Given the description of an element on the screen output the (x, y) to click on. 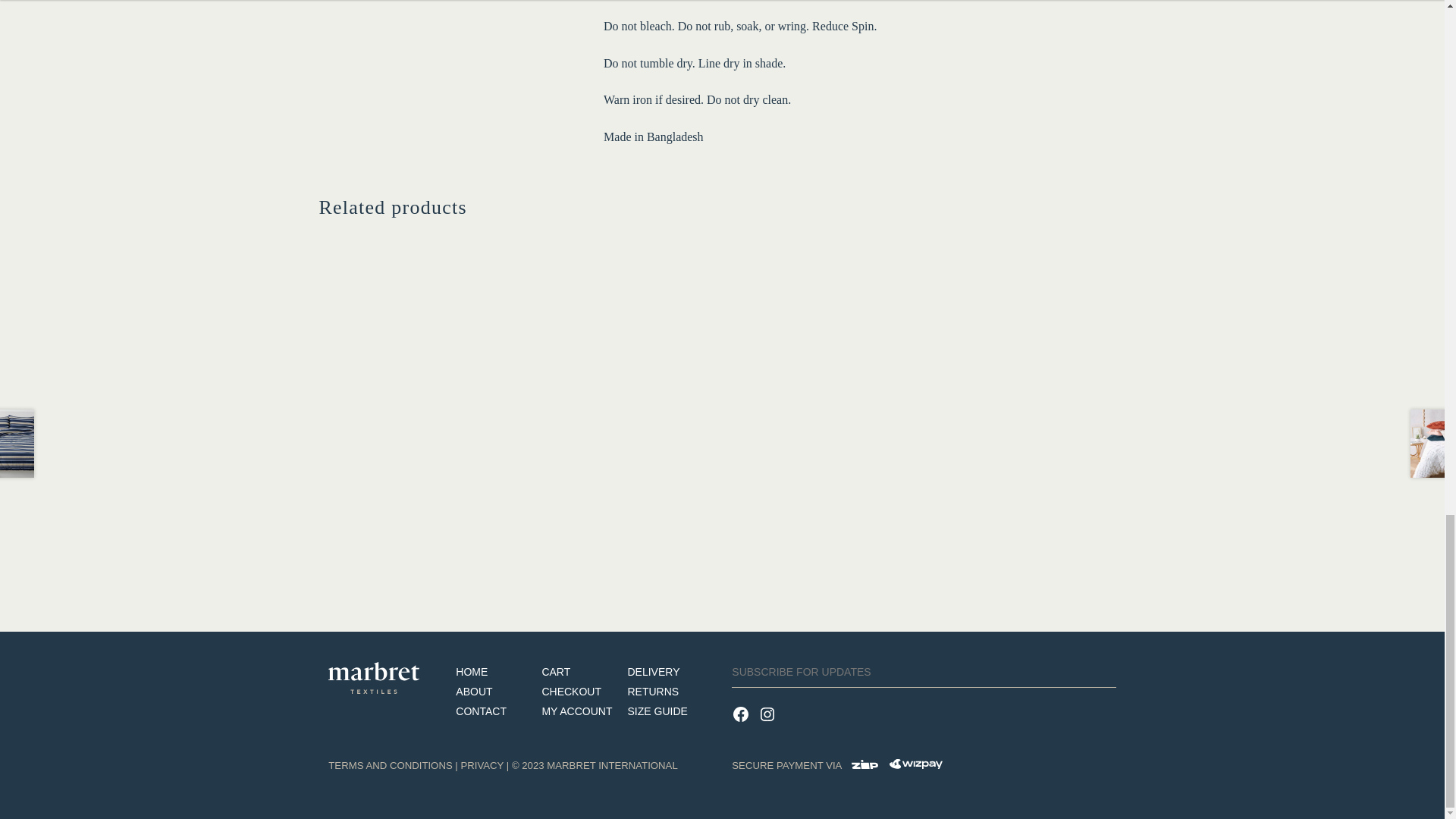
First name (923, 675)
Follow us on Instagram (769, 723)
Follow us on Facebook (744, 723)
